Given the description of an element on the screen output the (x, y) to click on. 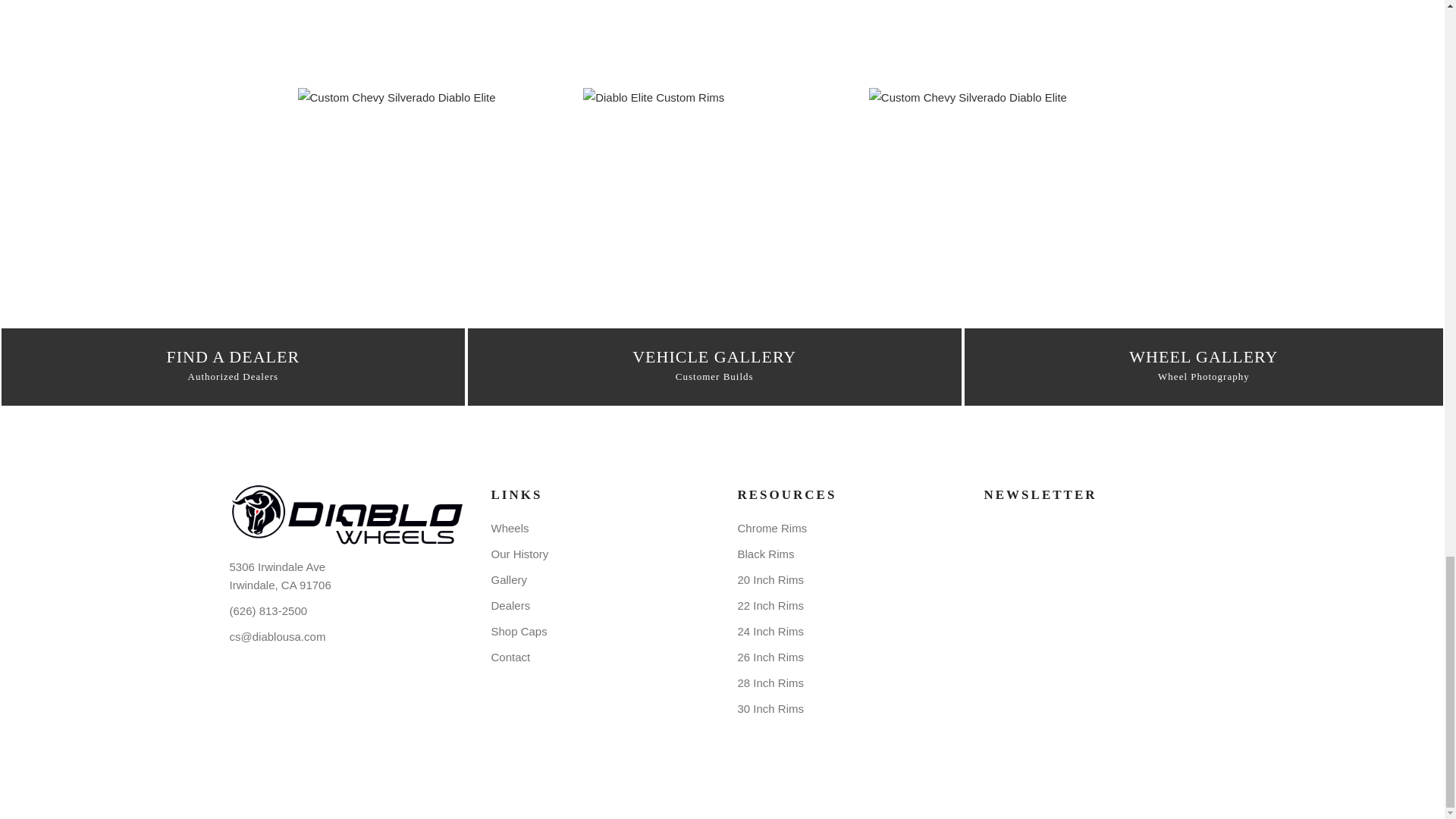
Red-Chevy-Silverado-Diablo-Elite-Wheel-Gallery-3 (722, 39)
Red-Chevy-Silverado-Diablo-Elite-Wheel-Gallery-6 (436, 179)
Diablo-Elite-Chrome-Wheel-Gallery-4 (1008, 39)
Diablo-Elite-Chrome-Wheel-Gallery-3 (436, 39)
Diablo-Elite-Black-Chrome-Wheel-Gallery-2 (722, 179)
Red-Chevy-Silverado-Diablo-Elite-Wheel-Gallery-5 (1008, 179)
